Given the description of an element on the screen output the (x, y) to click on. 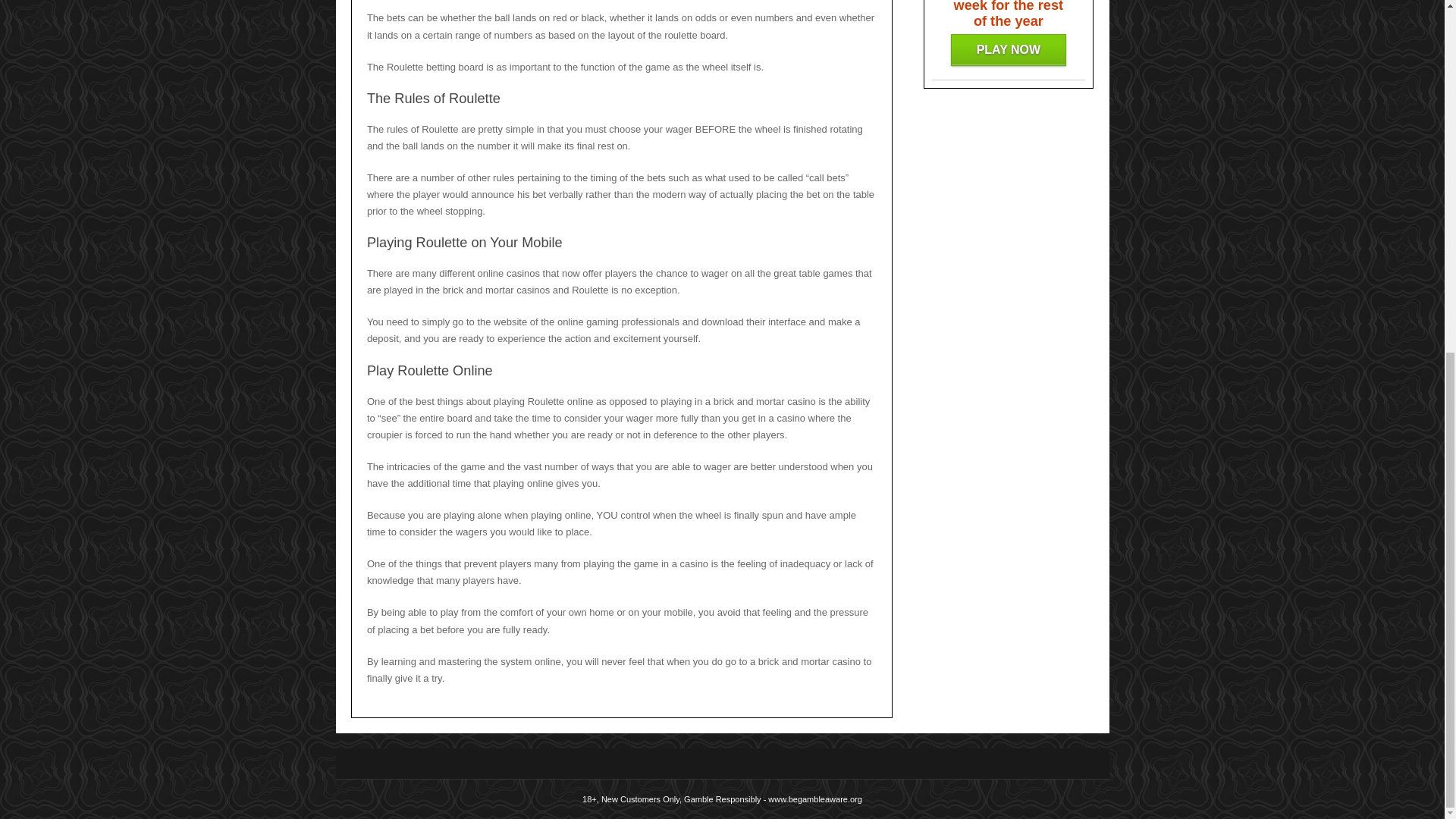
spinson (1007, 50)
PLAY NOW (1007, 50)
www.begambleaware.org (814, 798)
